Given the description of an element on the screen output the (x, y) to click on. 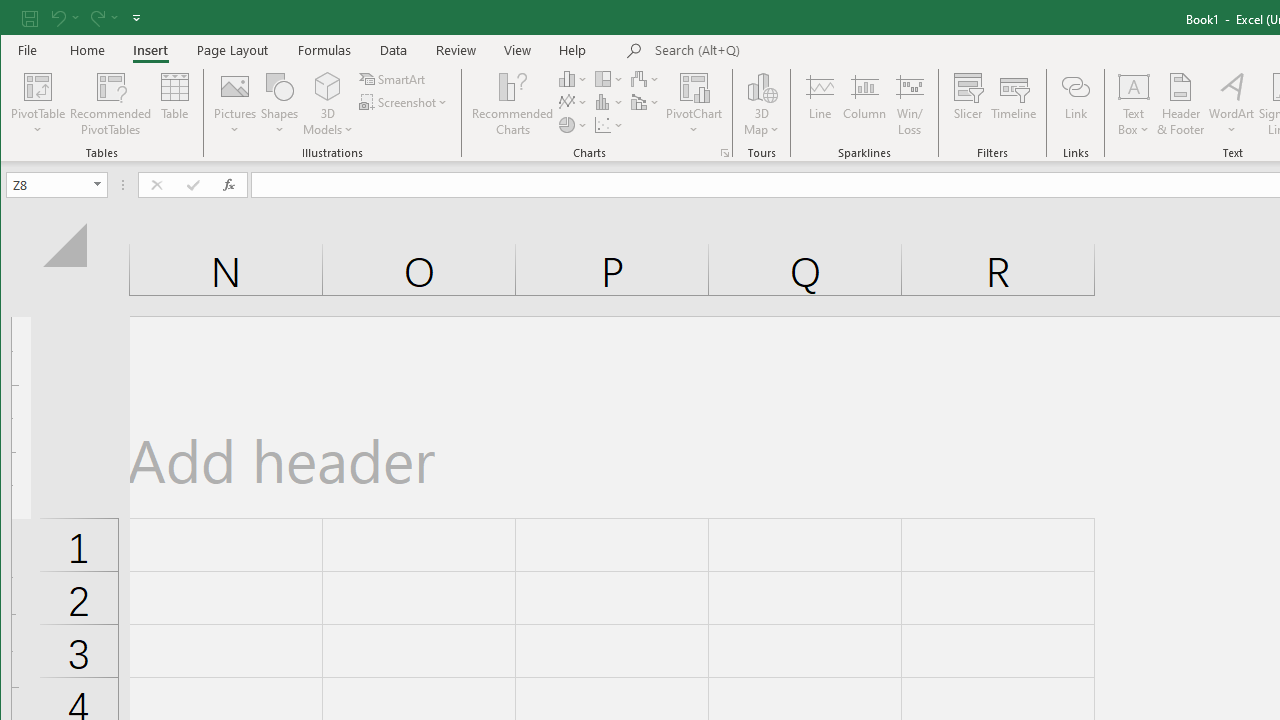
WordArt (1231, 104)
PivotTable (37, 104)
Insert Waterfall, Funnel, Stock, Surface, or Radar Chart (646, 78)
Shapes (279, 104)
Text Box (1133, 104)
Insert Line or Area Chart (573, 101)
3D Map (762, 86)
Insert Statistic Chart (609, 101)
Recommended Charts (724, 152)
